Given the description of an element on the screen output the (x, y) to click on. 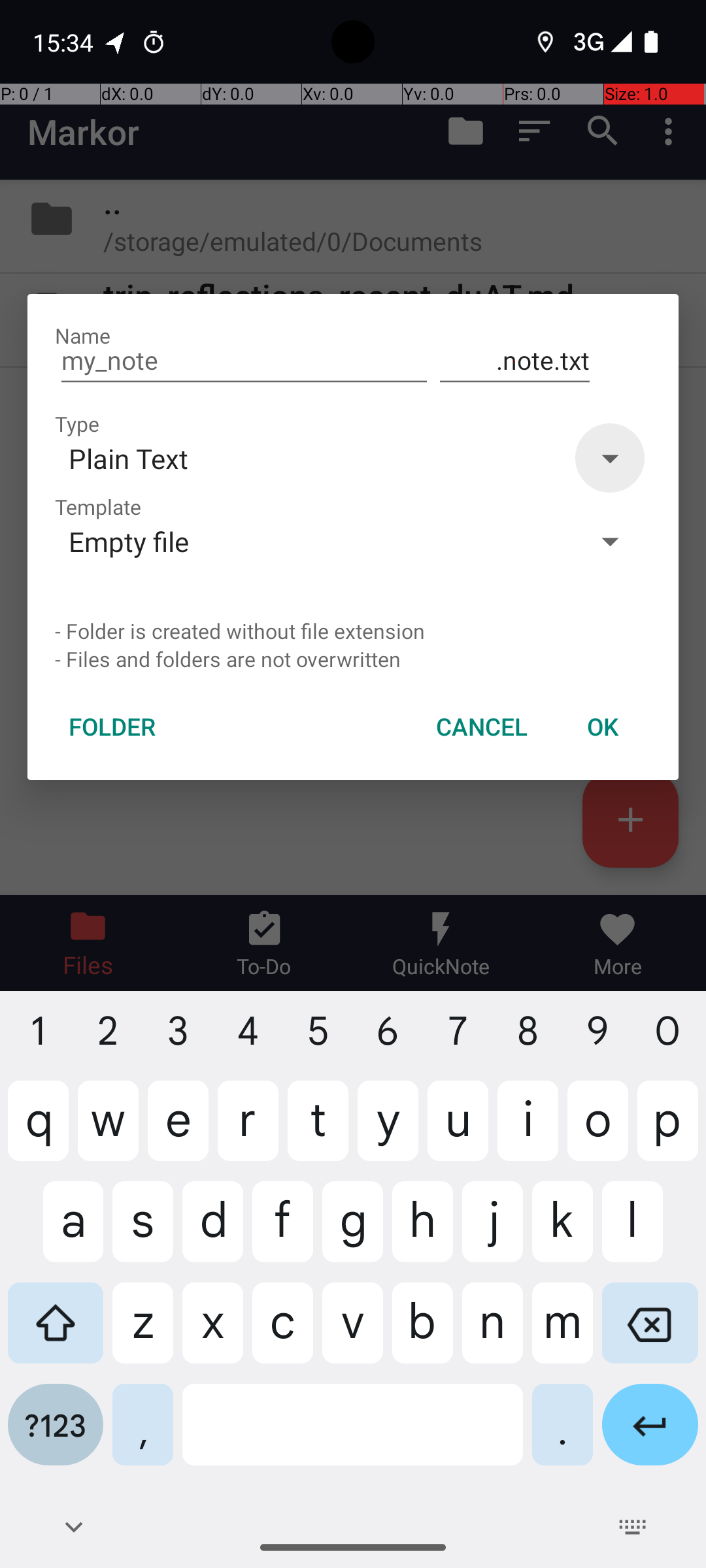
.note.txt Element type: android.widget.EditText (514, 360)
